Given the description of an element on the screen output the (x, y) to click on. 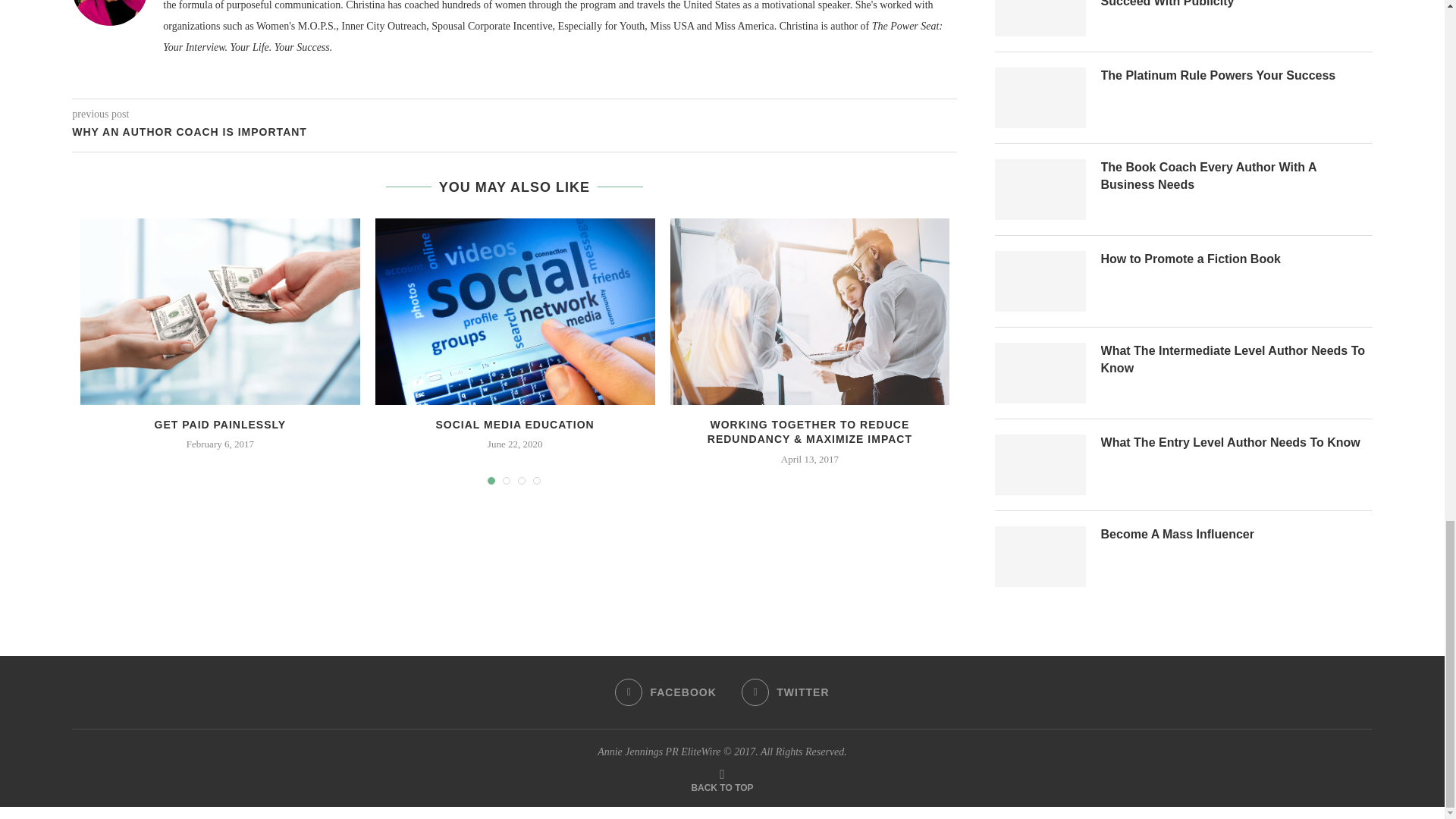
Get Paid Painlessly (219, 311)
Social Media Education (515, 311)
